Given the description of an element on the screen output the (x, y) to click on. 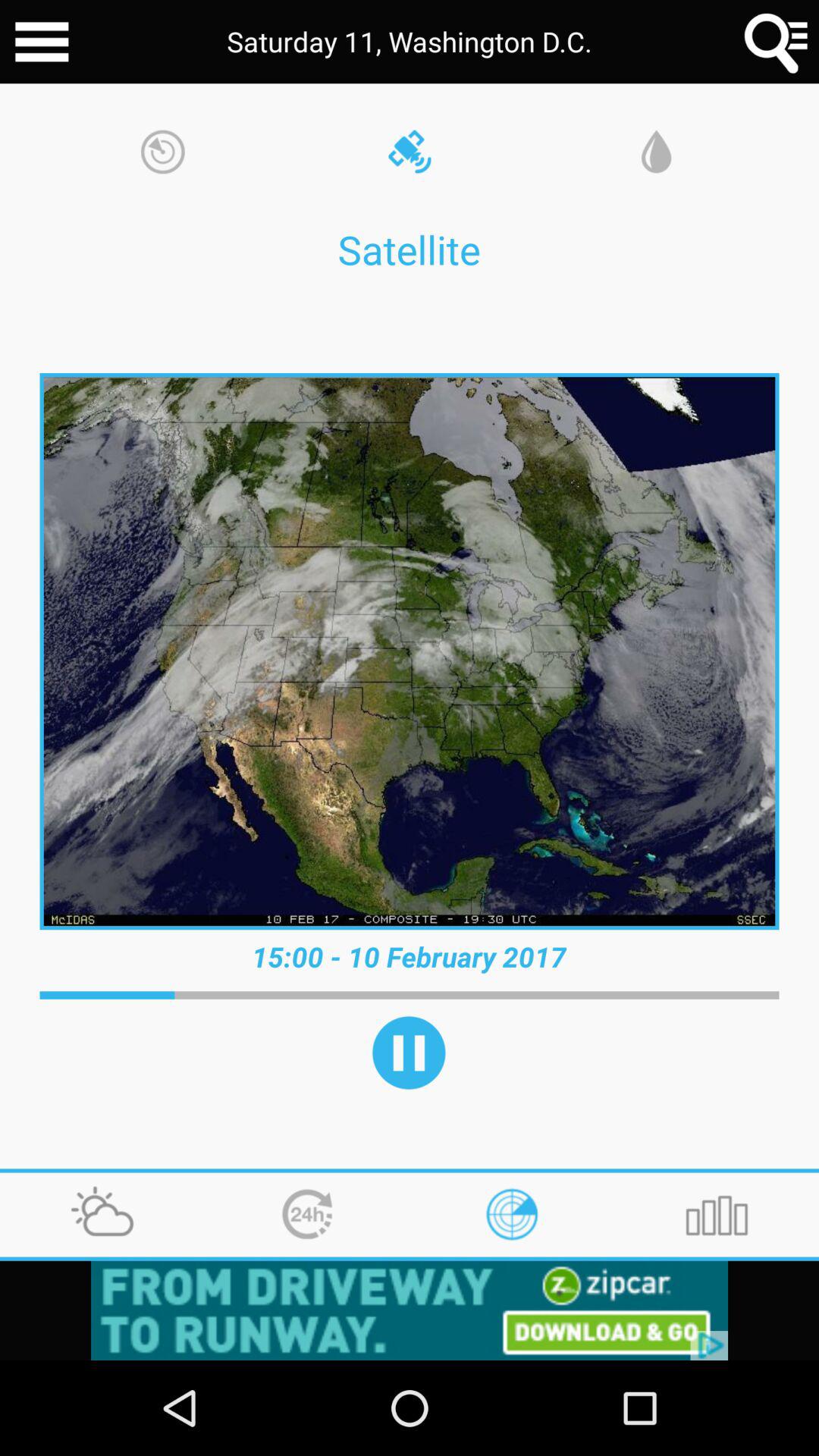
open search options (777, 41)
